Given the description of an element on the screen output the (x, y) to click on. 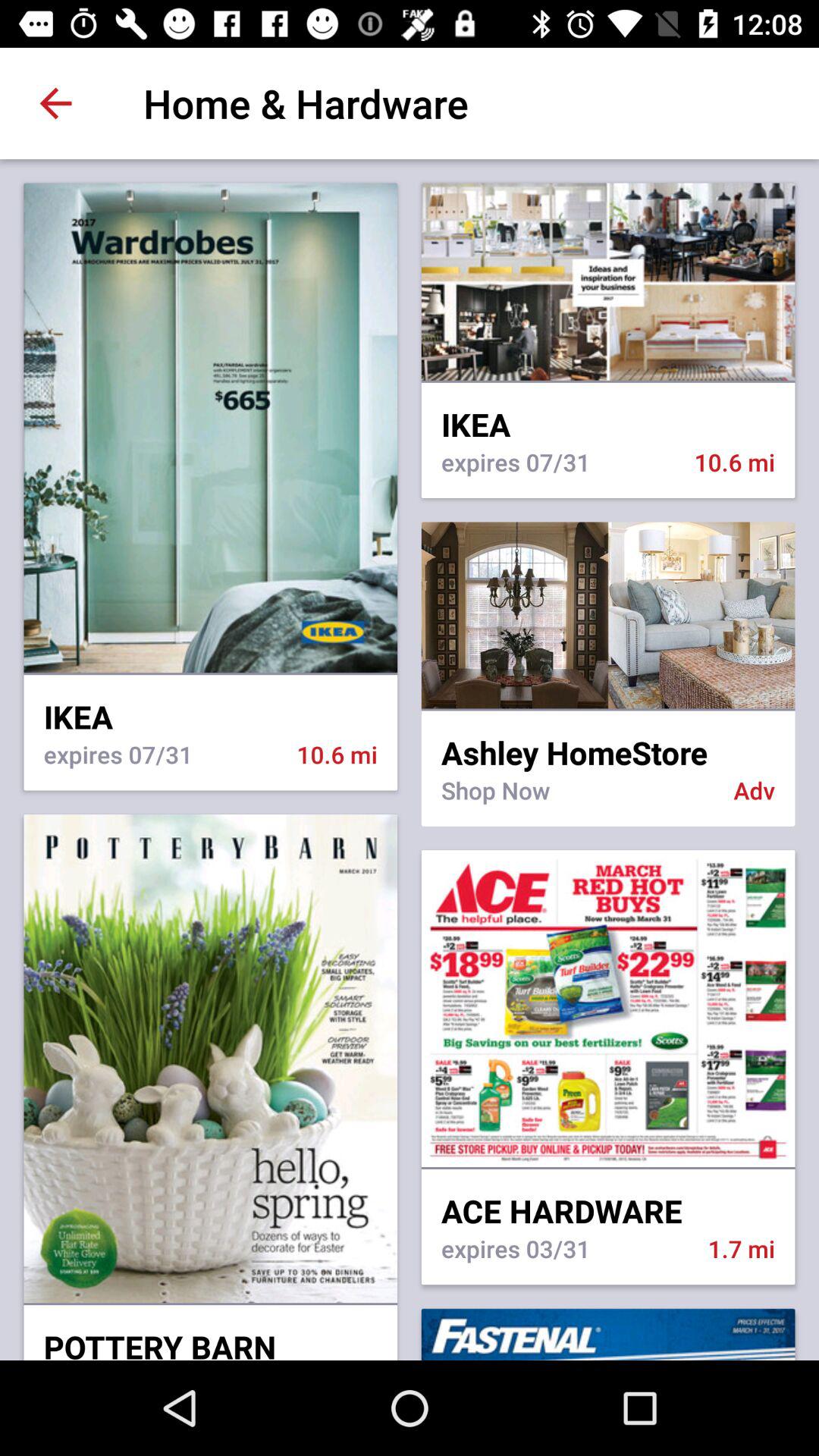
choose the item above the shop now icon (608, 742)
